Given the description of an element on the screen output the (x, y) to click on. 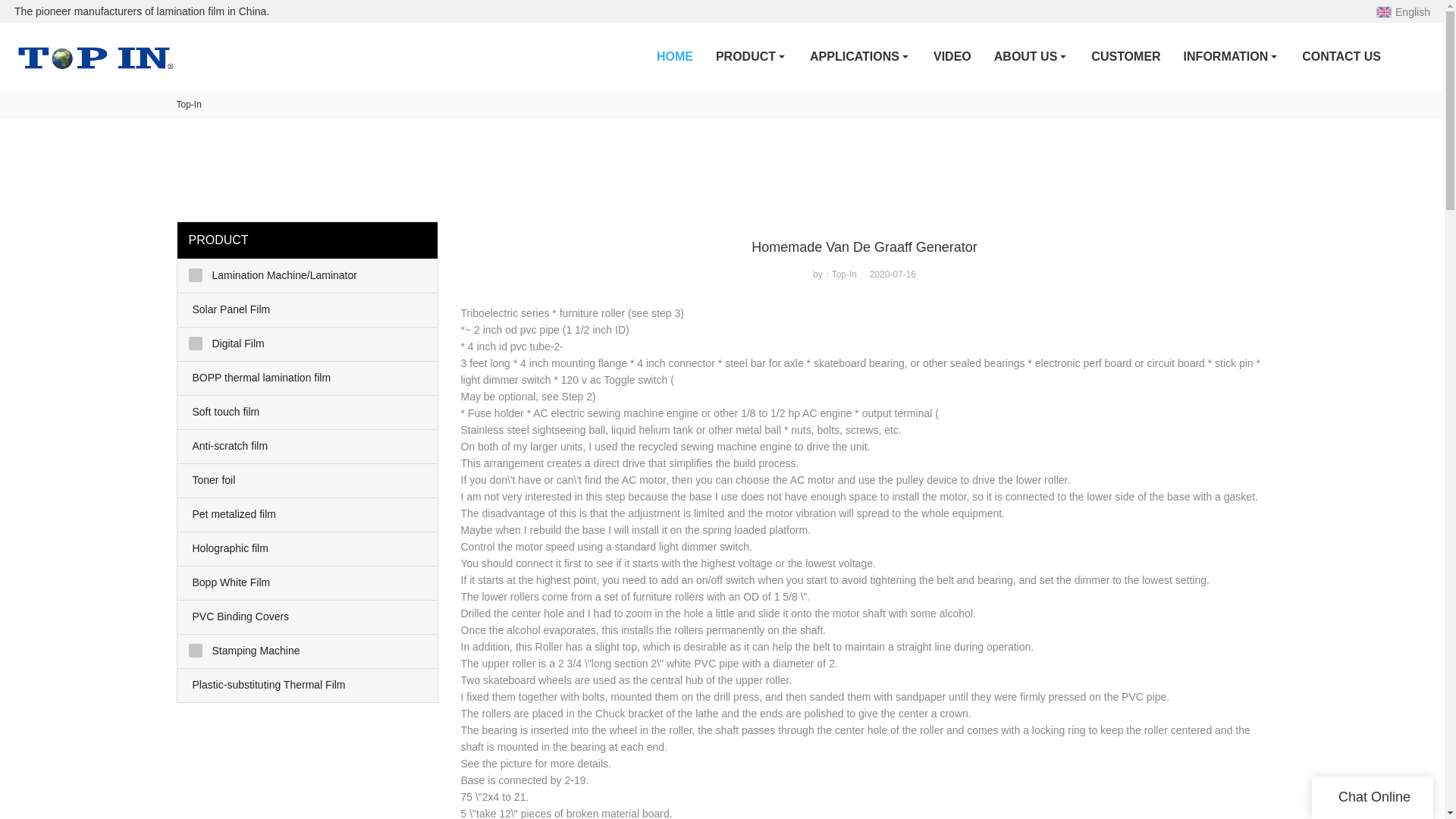
ABOUT US (1031, 56)
PRODUCT (750, 56)
VIDEO (951, 56)
APPLICATIONS (859, 56)
CUSTOMER (1126, 56)
